Given the description of an element on the screen output the (x, y) to click on. 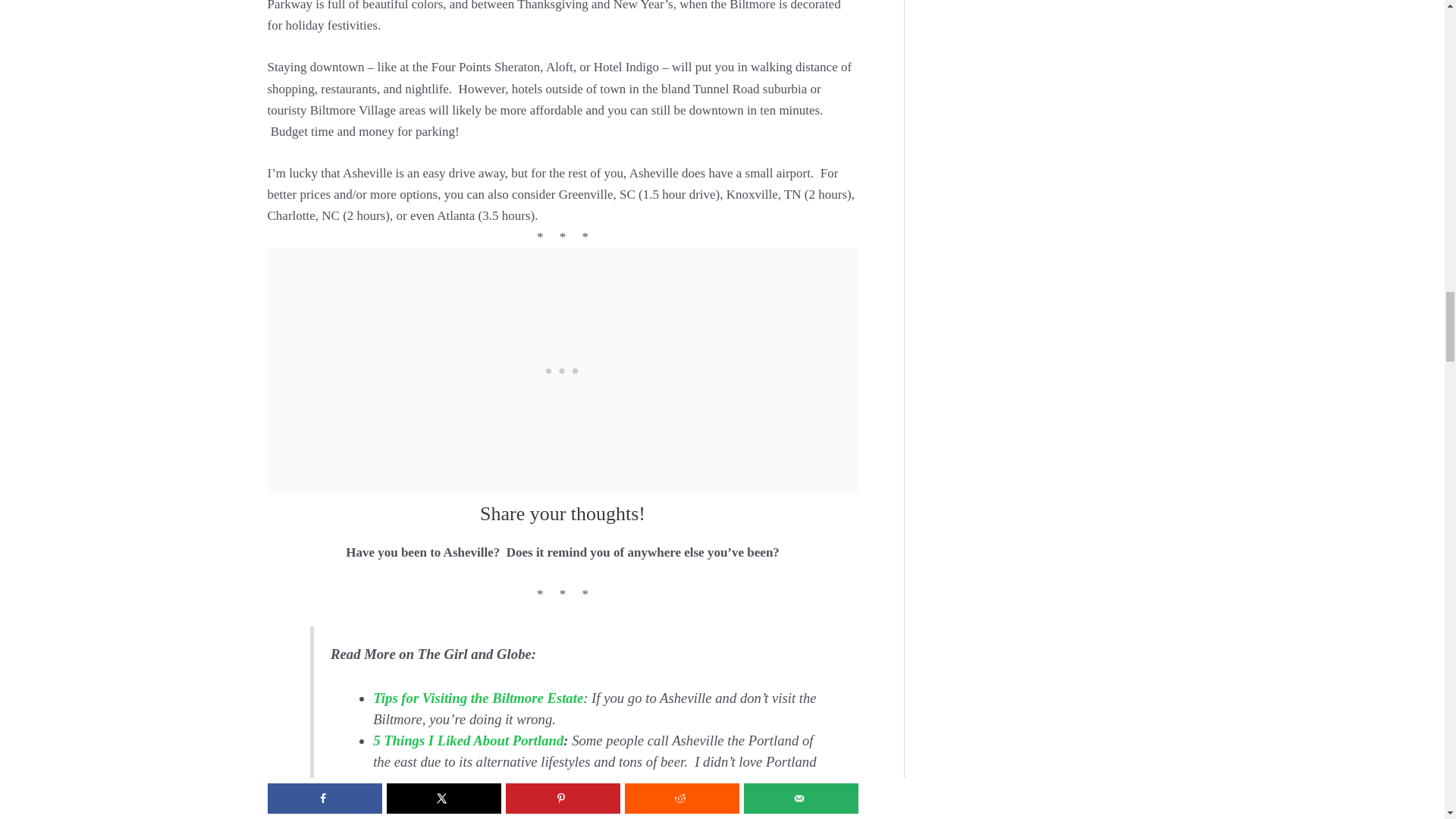
5 Things I Liked About Portland (467, 740)
Three Days in Atlanta (437, 804)
Tips for Visiting the Biltmore Estate (477, 697)
